Given the description of an element on the screen output the (x, y) to click on. 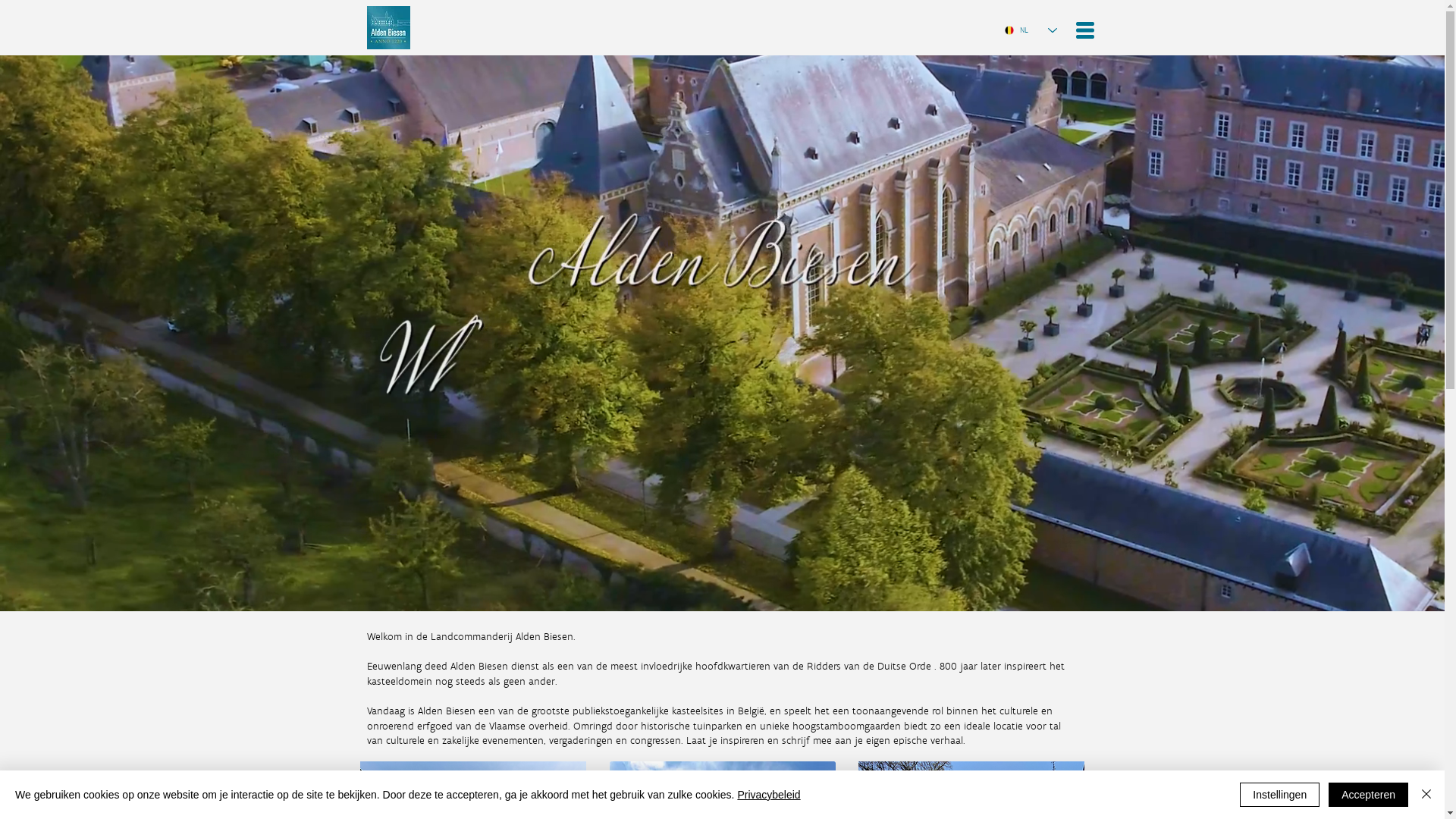
Accepteren Element type: text (1368, 794)
Privacybeleid Element type: text (768, 794)
Instellingen Element type: text (1279, 794)
